Given the description of an element on the screen output the (x, y) to click on. 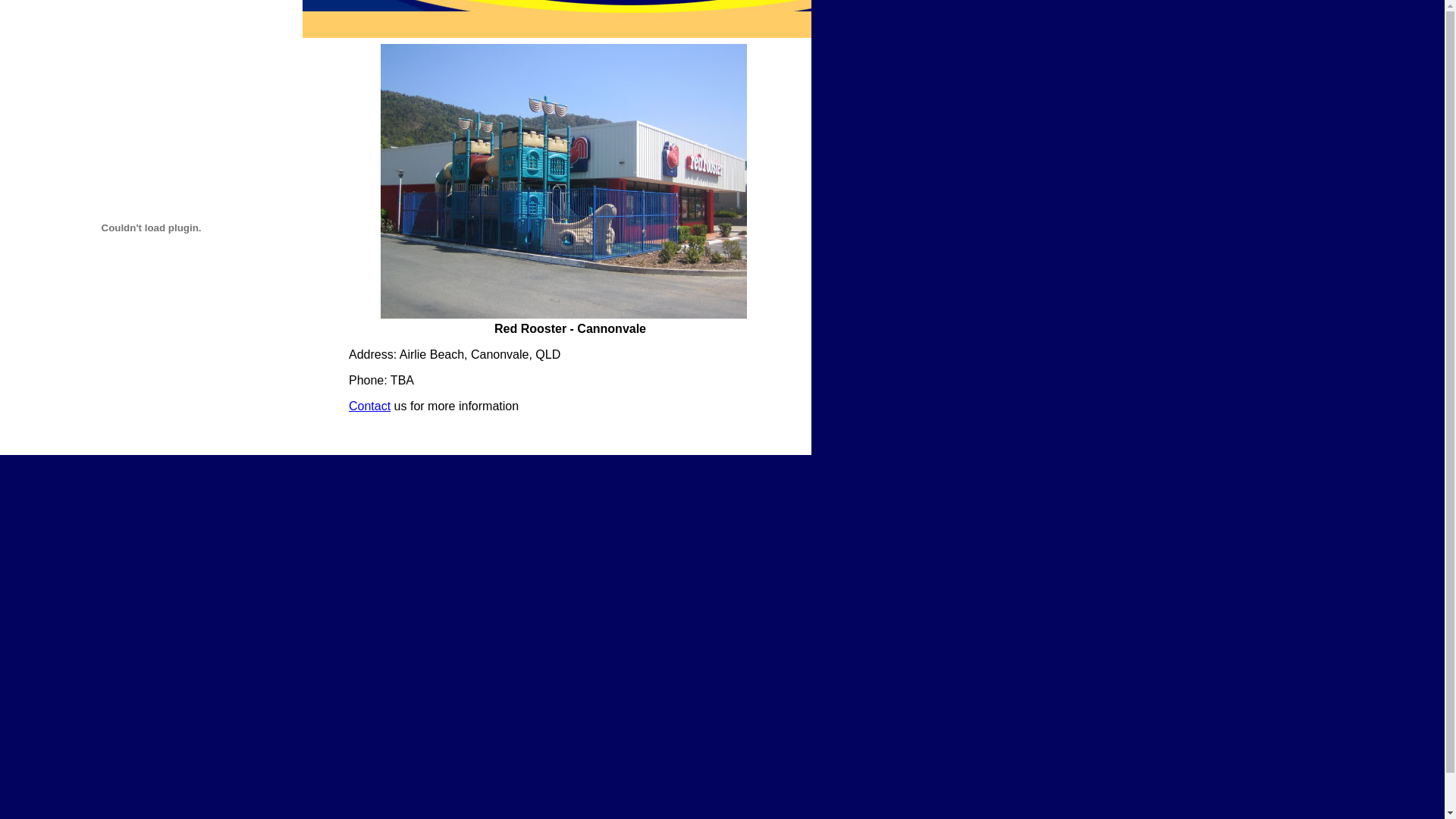
Contact Element type: text (369, 405)
